Given the description of an element on the screen output the (x, y) to click on. 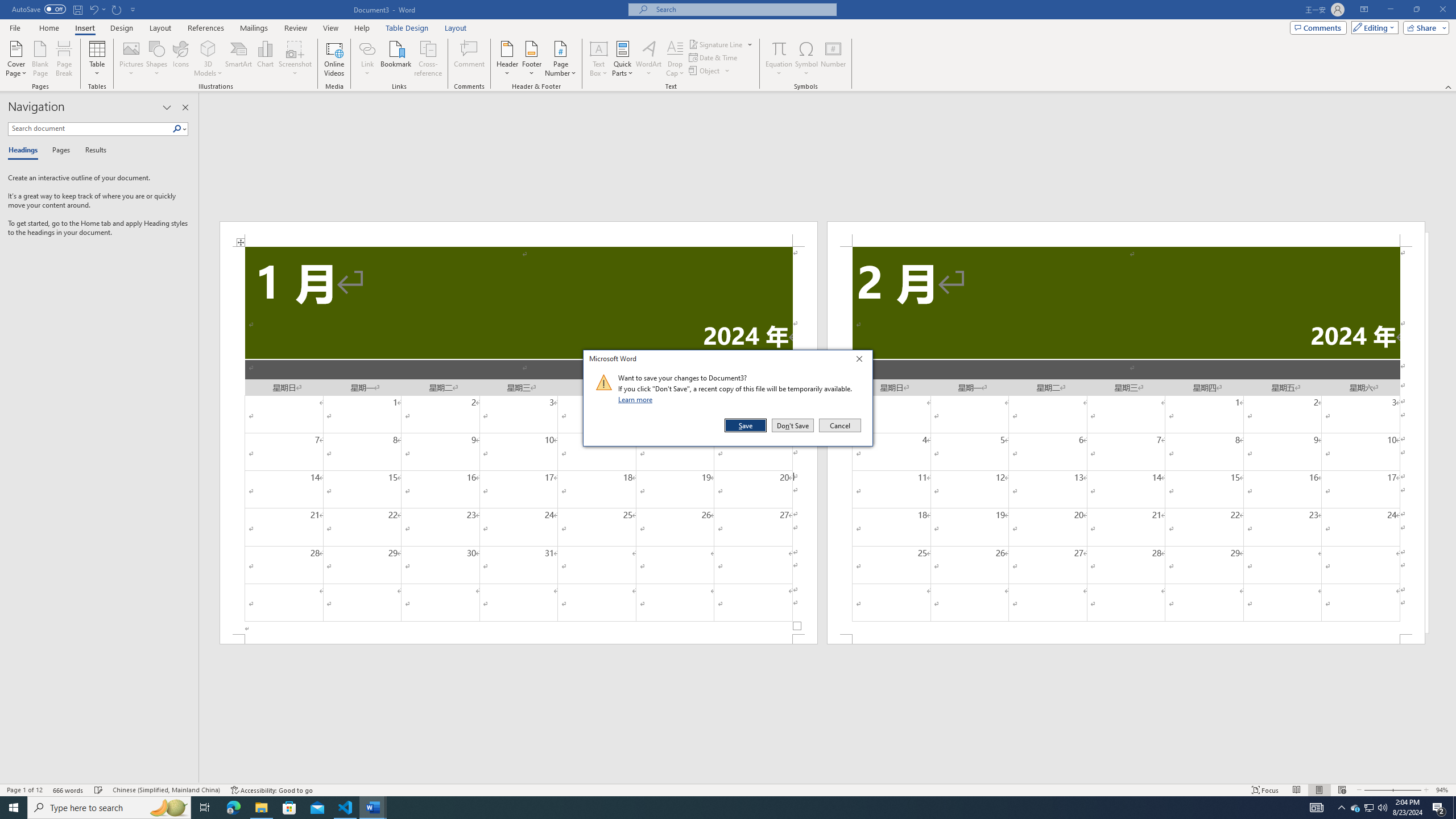
Header -Section 2- (1126, 233)
Blank Page (40, 58)
Chart... (265, 58)
Shapes (156, 58)
Page Break (63, 58)
